Given the description of an element on the screen output the (x, y) to click on. 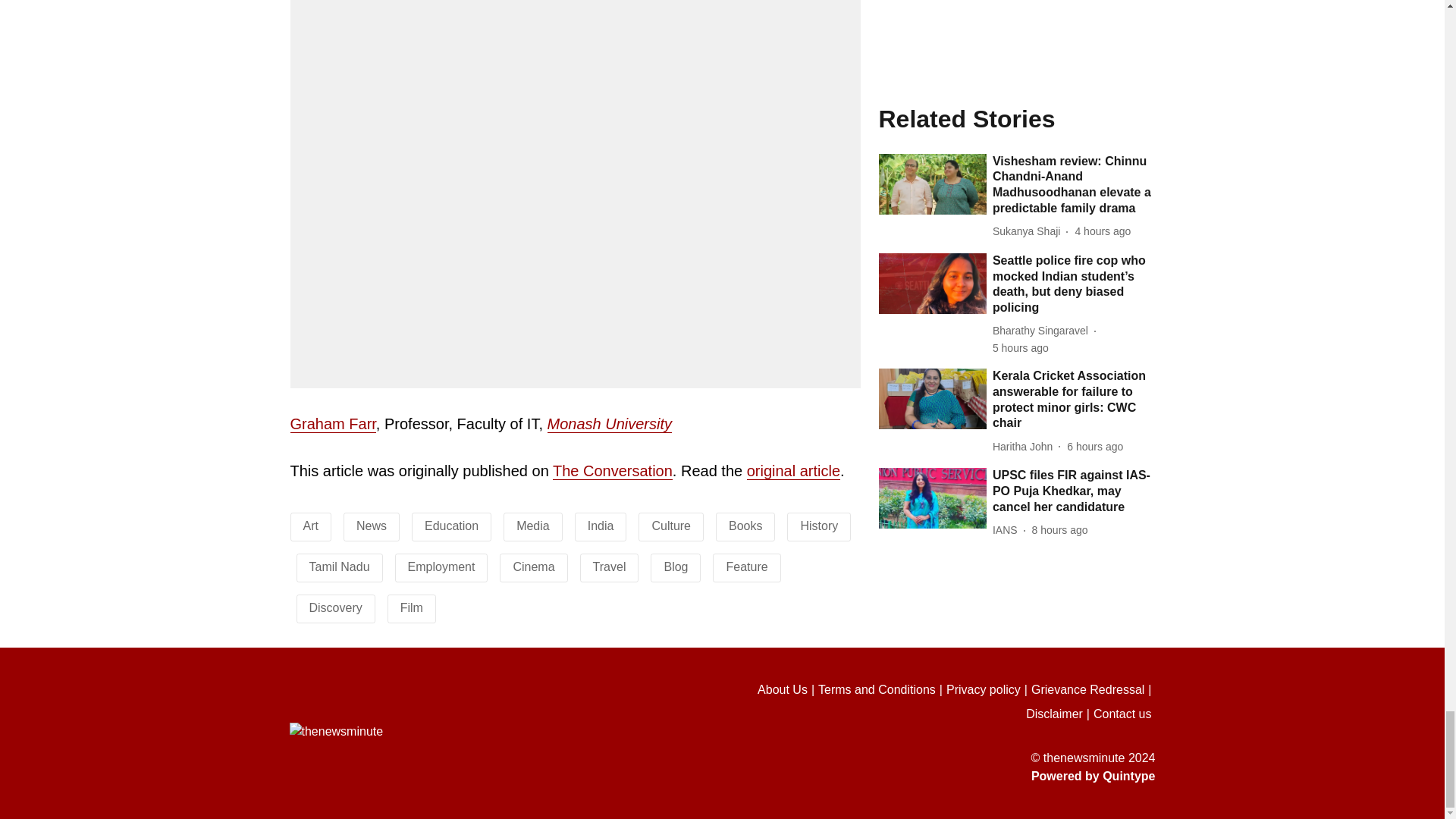
Graham Farr (332, 424)
